Given the description of an element on the screen output the (x, y) to click on. 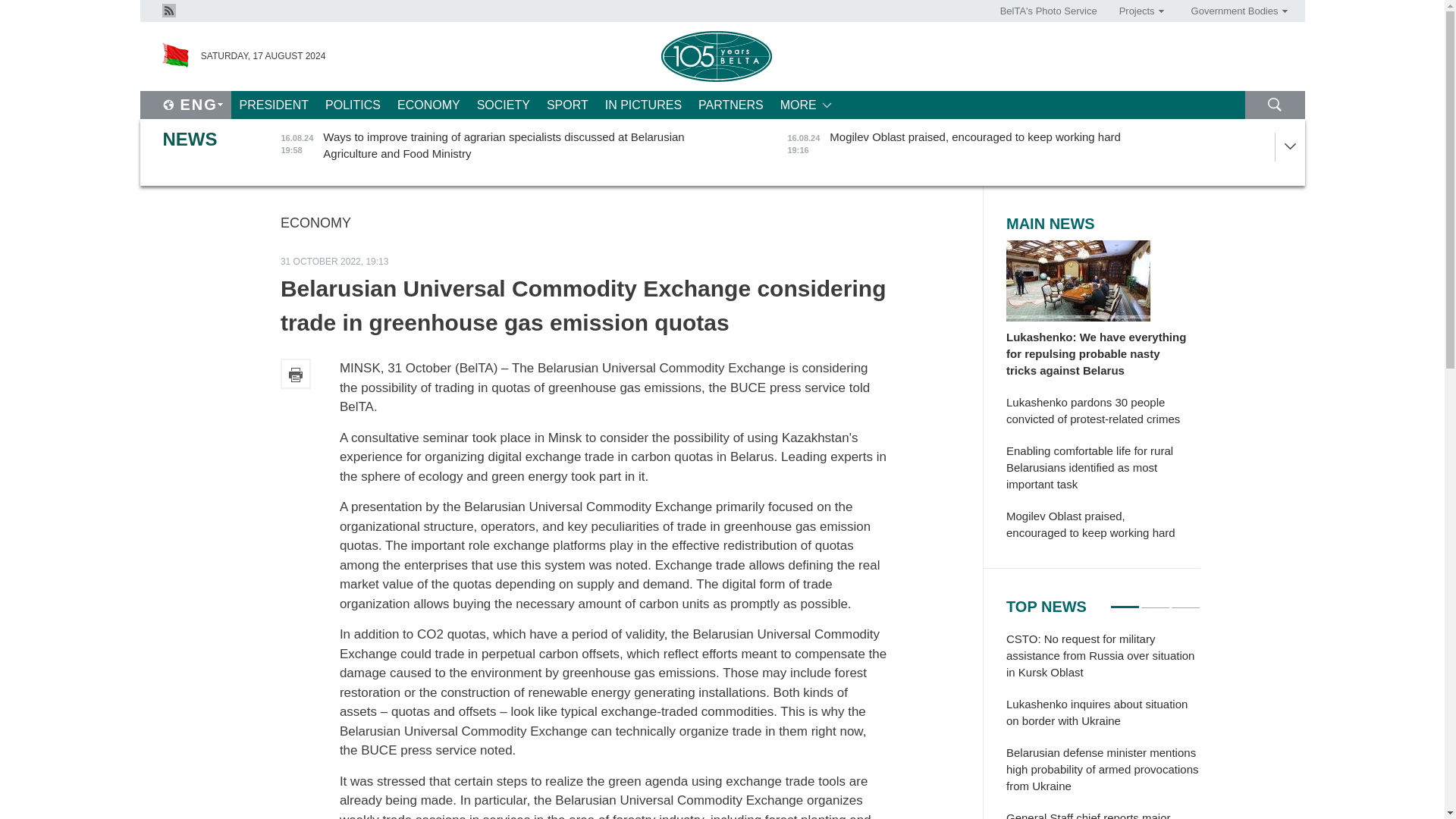
Government Bodies (1233, 11)
Projects (1136, 11)
Rss (167, 9)
BelTA's Photo Service (1048, 11)
Rss (168, 10)
BelTA's Photo Service (1048, 11)
Government Bodies (1233, 11)
Projects (1136, 11)
